Given the description of an element on the screen output the (x, y) to click on. 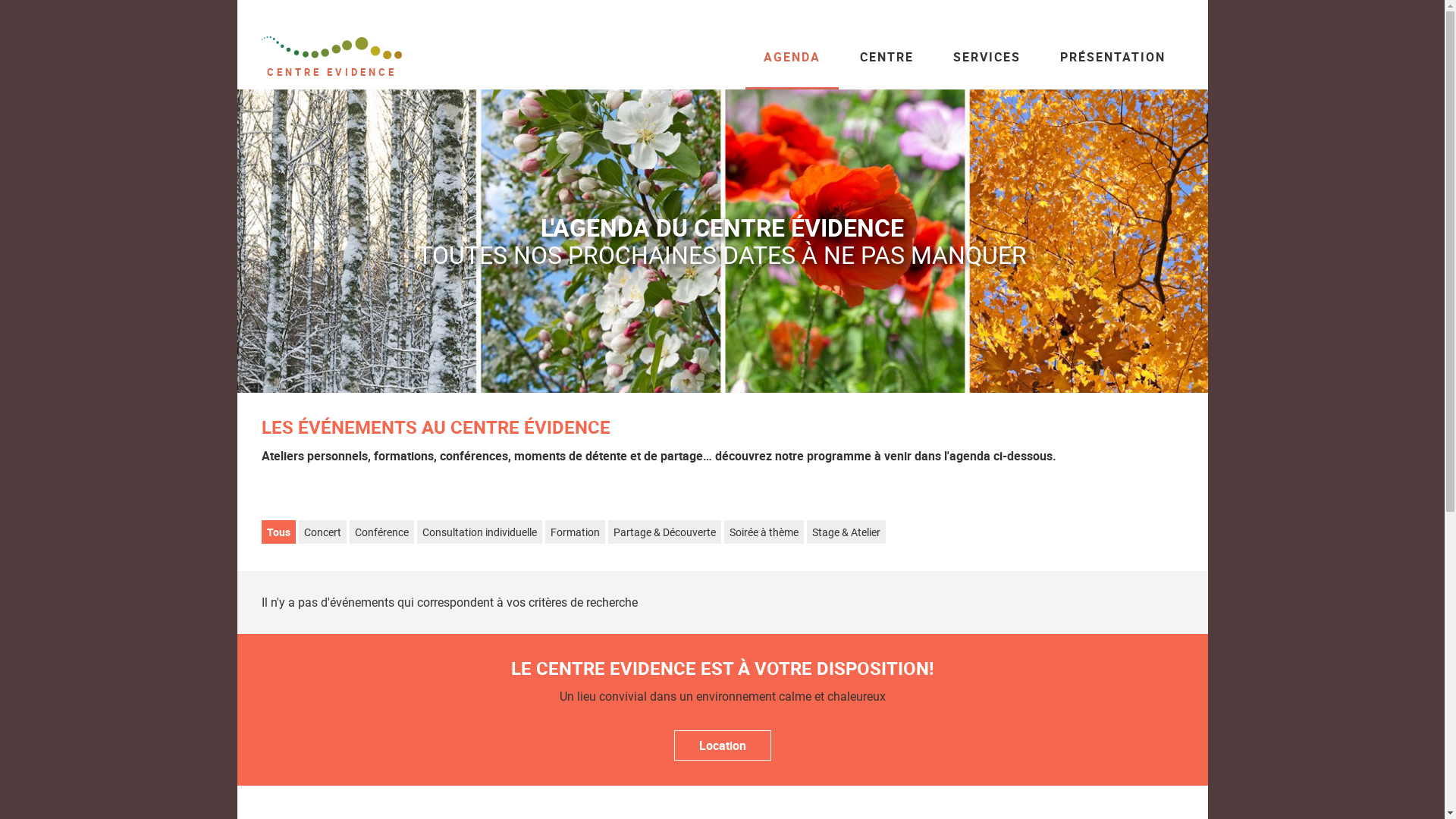
CENTRE Element type: text (886, 56)
AGENDA Element type: text (790, 56)
Stage & Atelier Element type: text (845, 531)
Location Element type: text (721, 745)
CENTRE EVIDENCE Element type: text (330, 57)
SERVICES Element type: text (986, 56)
Tous Element type: text (277, 531)
Formation Element type: text (574, 531)
Consultation individuelle Element type: text (479, 531)
Concert Element type: text (322, 531)
